Given the description of an element on the screen output the (x, y) to click on. 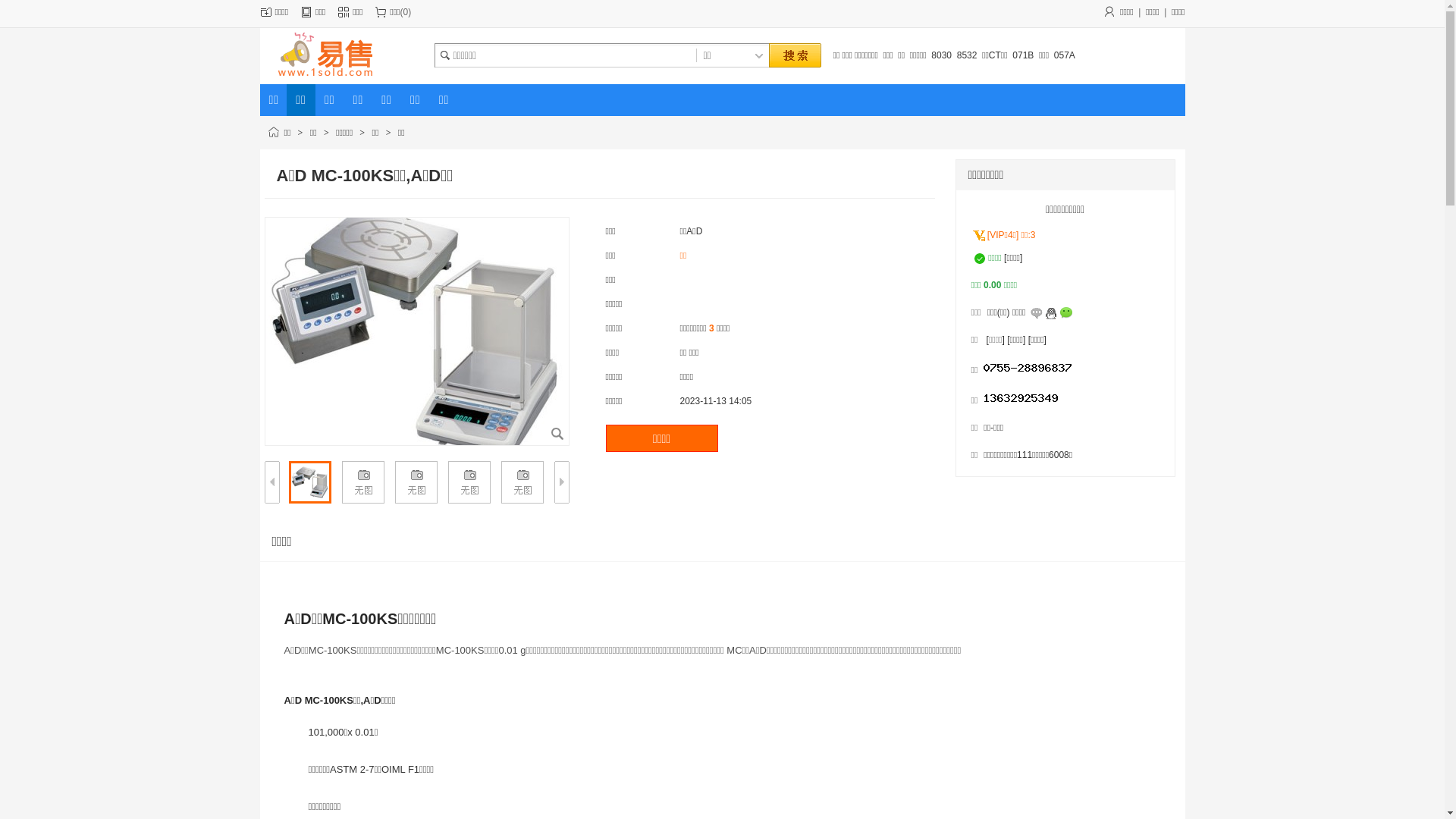
071B Element type: text (1022, 55)
  Element type: text (793, 56)
057A Element type: text (1064, 55)
8030 Element type: text (941, 55)
8532 Element type: text (967, 55)
